Given the description of an element on the screen output the (x, y) to click on. 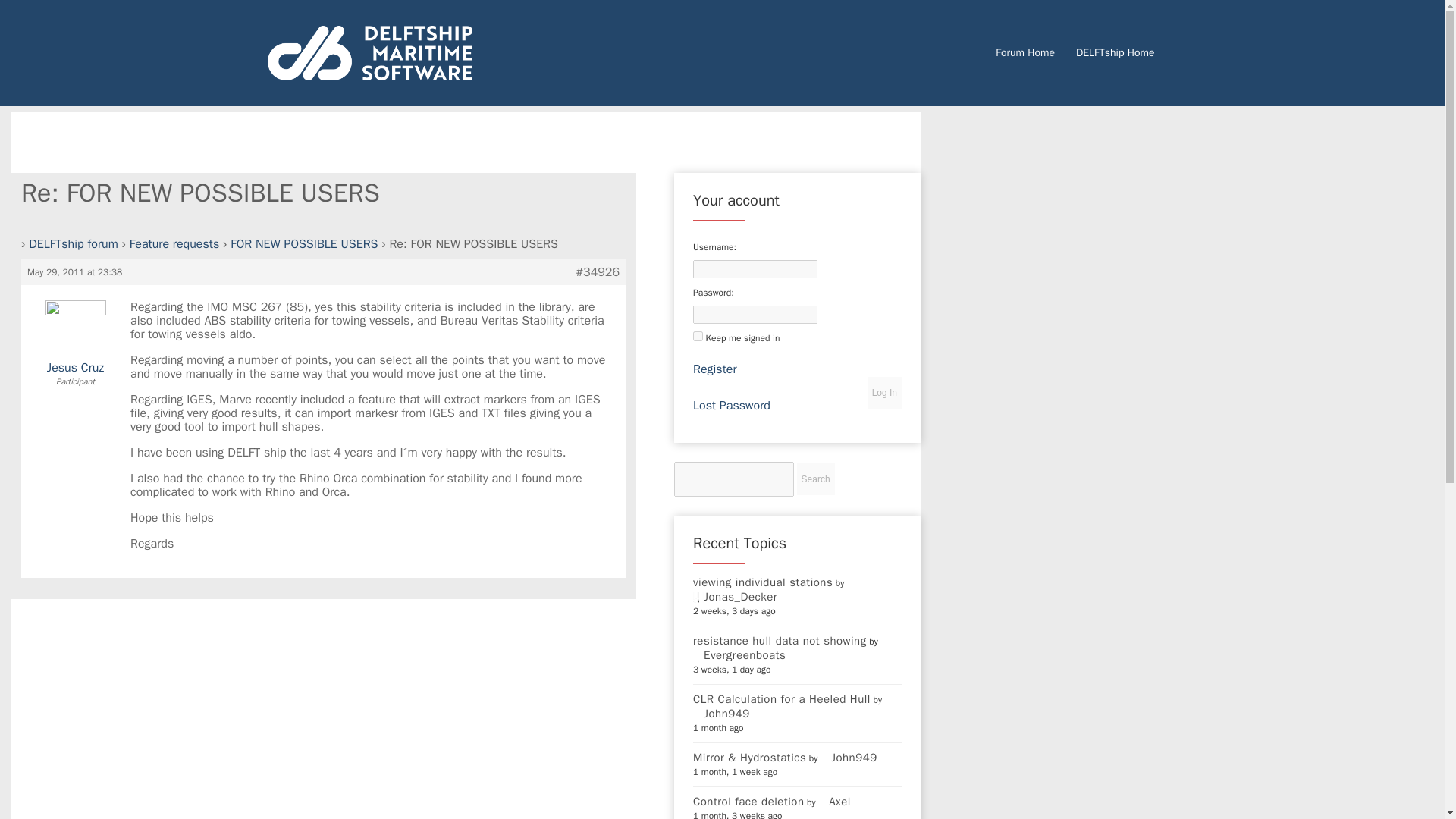
FOR NEW POSSIBLE USERS (303, 243)
DELFTship forum (73, 243)
Log In (884, 392)
View Jesus Cruz's profile (75, 345)
View Evergreenboats's profile (739, 654)
Evergreenboats (739, 654)
forever (698, 336)
Jesus Cruz (75, 345)
View Axel's profile (834, 801)
Control face deletion (748, 801)
resistance hull data not showing (779, 640)
John949 (849, 757)
Search (815, 479)
View John949's profile (721, 713)
CLR Calculation for a Heeled Hull (781, 698)
